Given the description of an element on the screen output the (x, y) to click on. 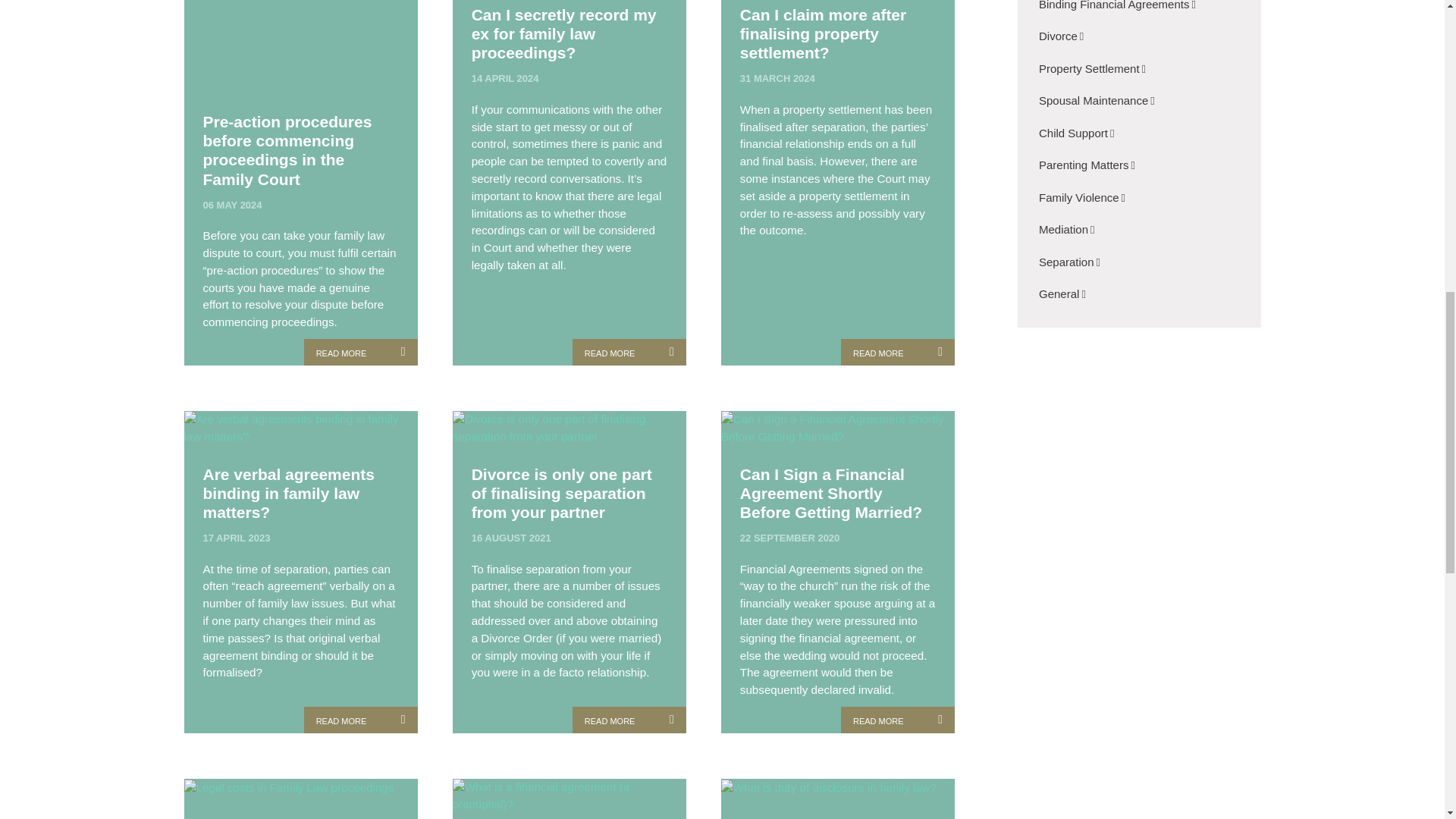
Can I claim more after finalising property settlement? (837, 38)
Can I secretly record my ex for family law proceedings? (568, 38)
READ MORE (360, 352)
READ MORE (360, 719)
READ MORE (628, 352)
READ MORE (628, 719)
READ MORE (898, 352)
Are verbal agreements binding in family law matters? (300, 498)
